Given the description of an element on the screen output the (x, y) to click on. 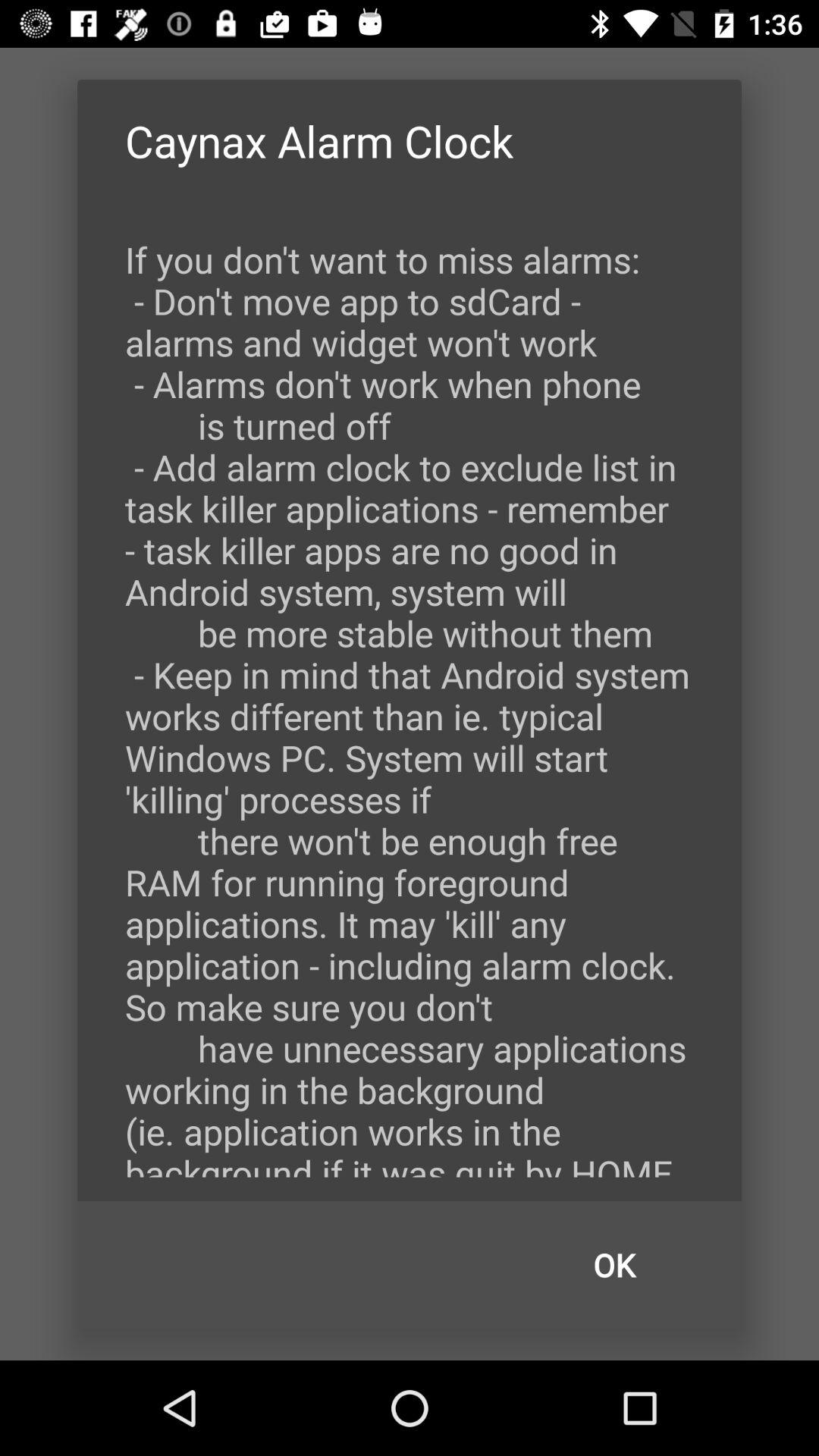
turn on the icon below the if you don (613, 1264)
